Given the description of an element on the screen output the (x, y) to click on. 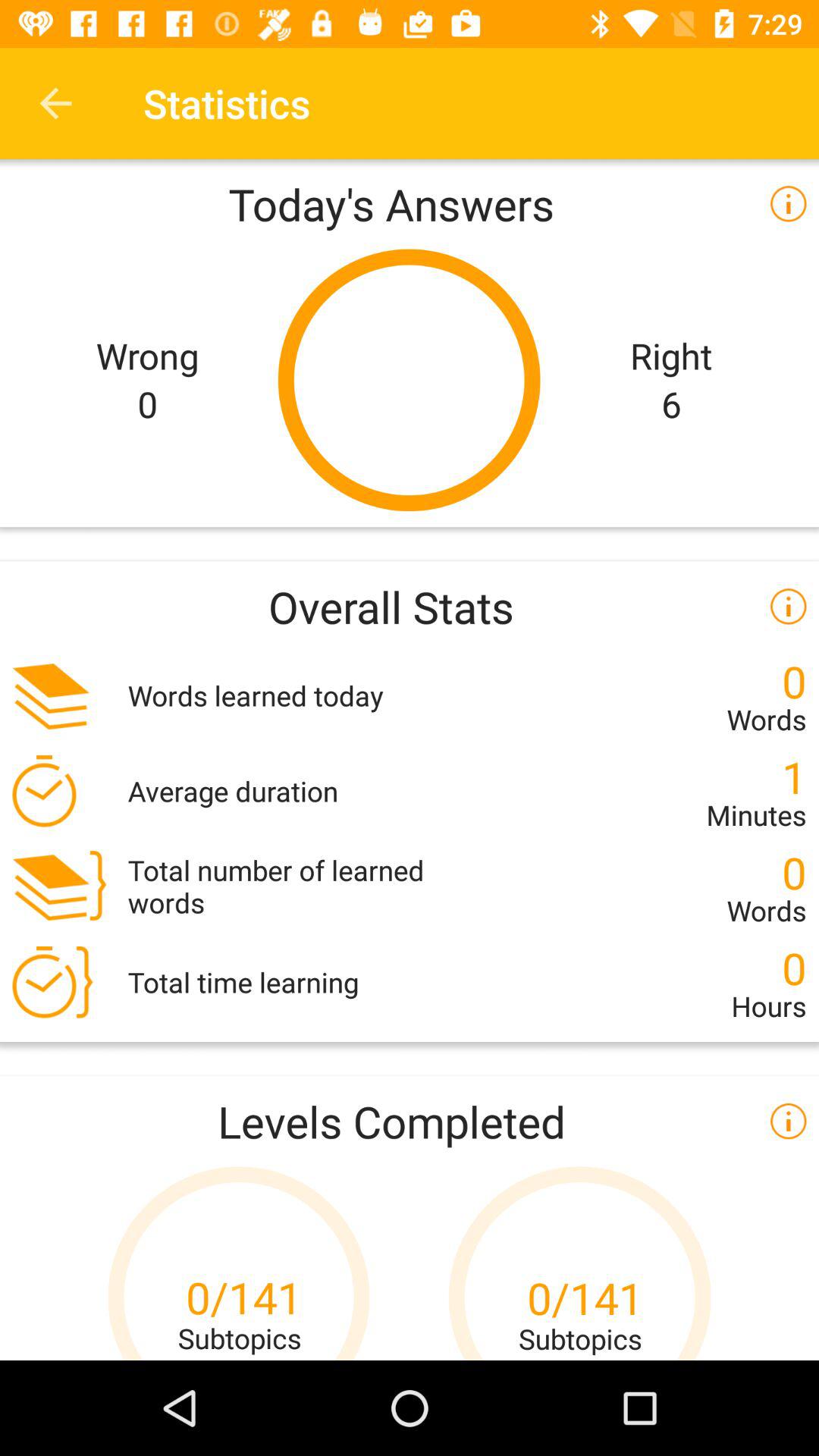
tap icon next to the statistics item (55, 103)
